Given the description of an element on the screen output the (x, y) to click on. 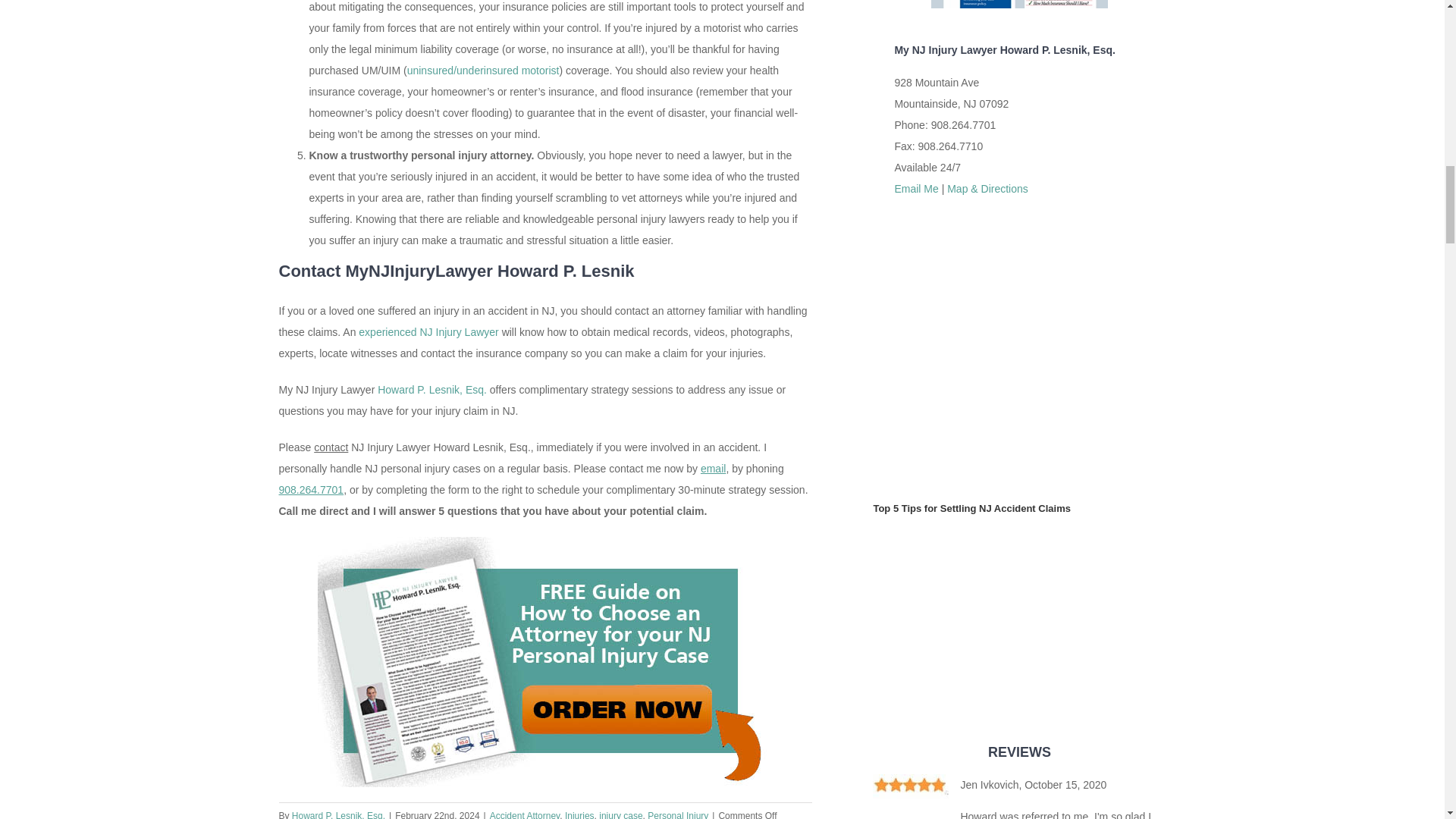
Posts by Howard P. Lesnik, Esq. (338, 814)
